Given the description of an element on the screen output the (x, y) to click on. 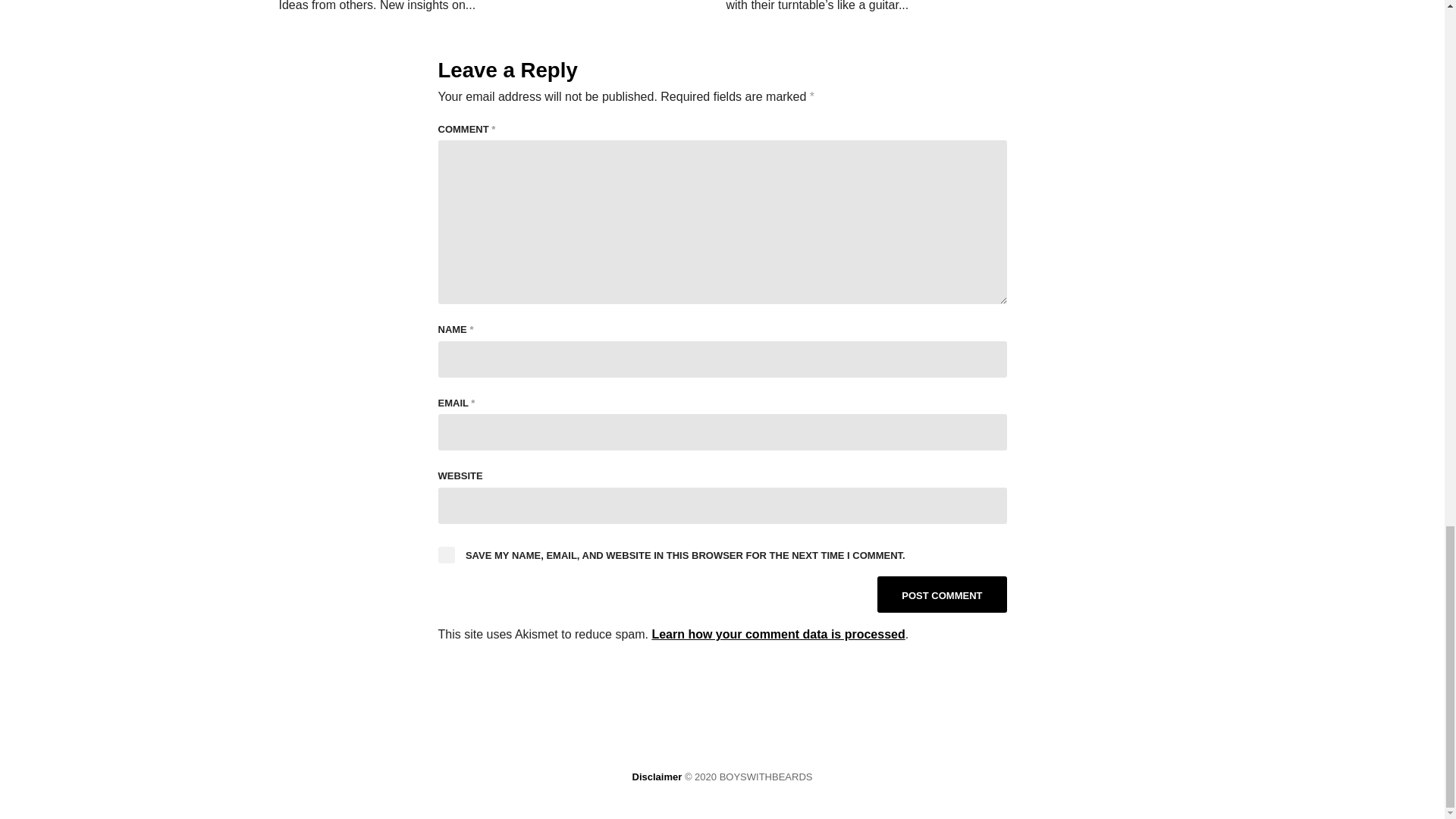
Learn how your comment data is processed (777, 634)
Post Comment (941, 594)
Disclaimer (656, 776)
Post Comment (941, 594)
yes (446, 555)
